Given the description of an element on the screen output the (x, y) to click on. 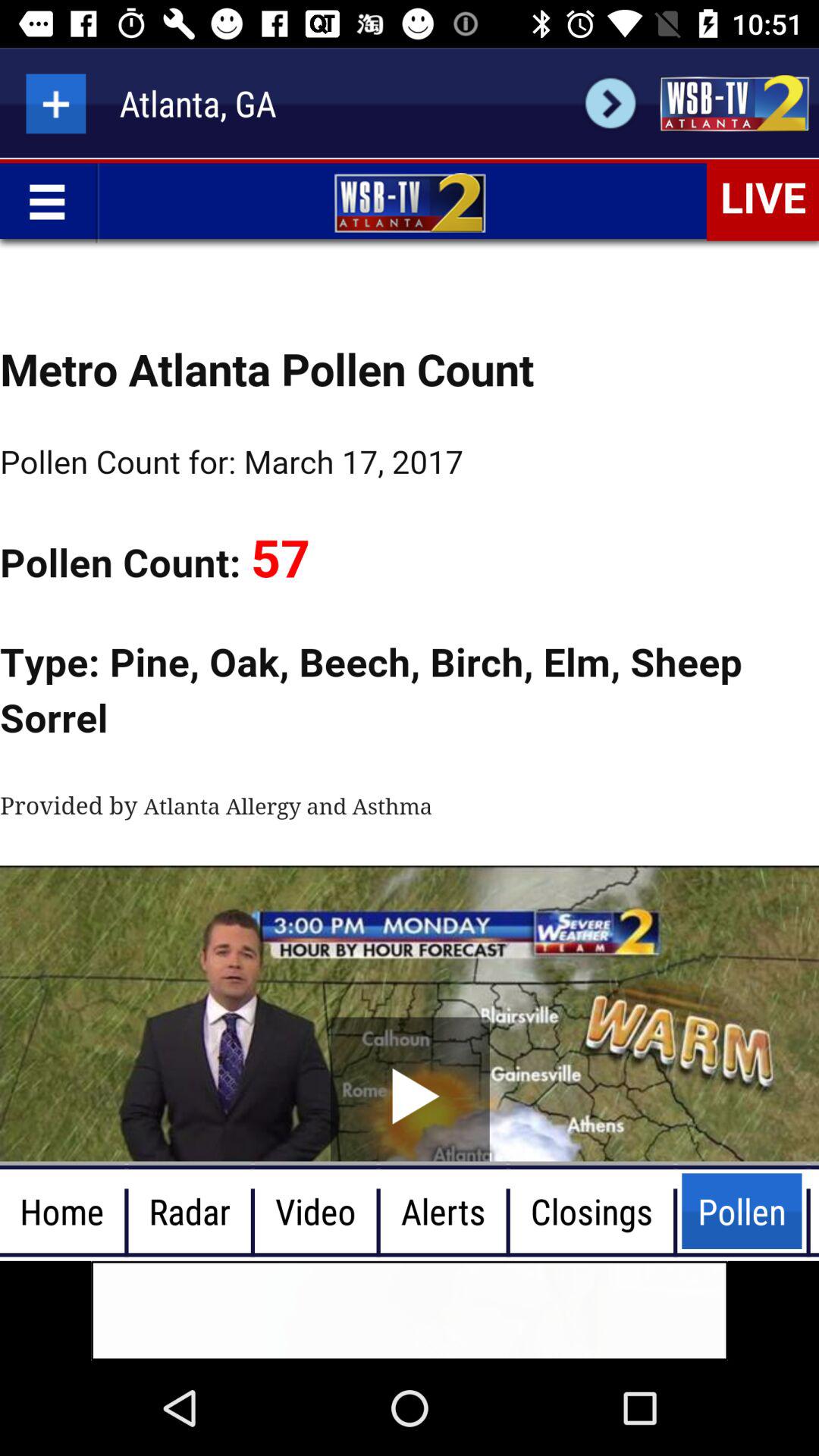
check weather for selected city (610, 103)
